Given the description of an element on the screen output the (x, y) to click on. 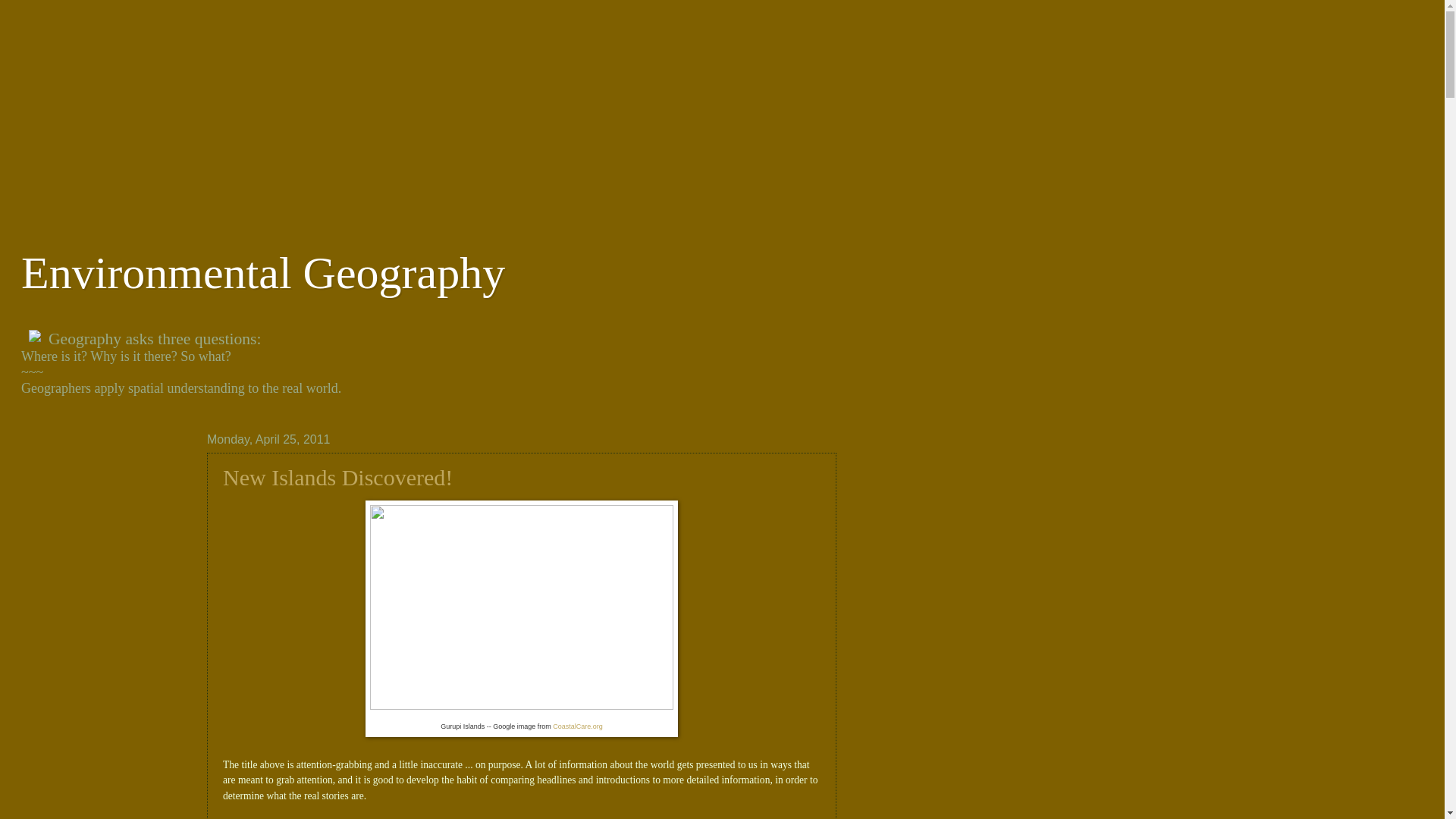
Environmental Geography (263, 273)
CoastalCare.org (577, 726)
New Islands Discovered! (337, 477)
